Given the description of an element on the screen output the (x, y) to click on. 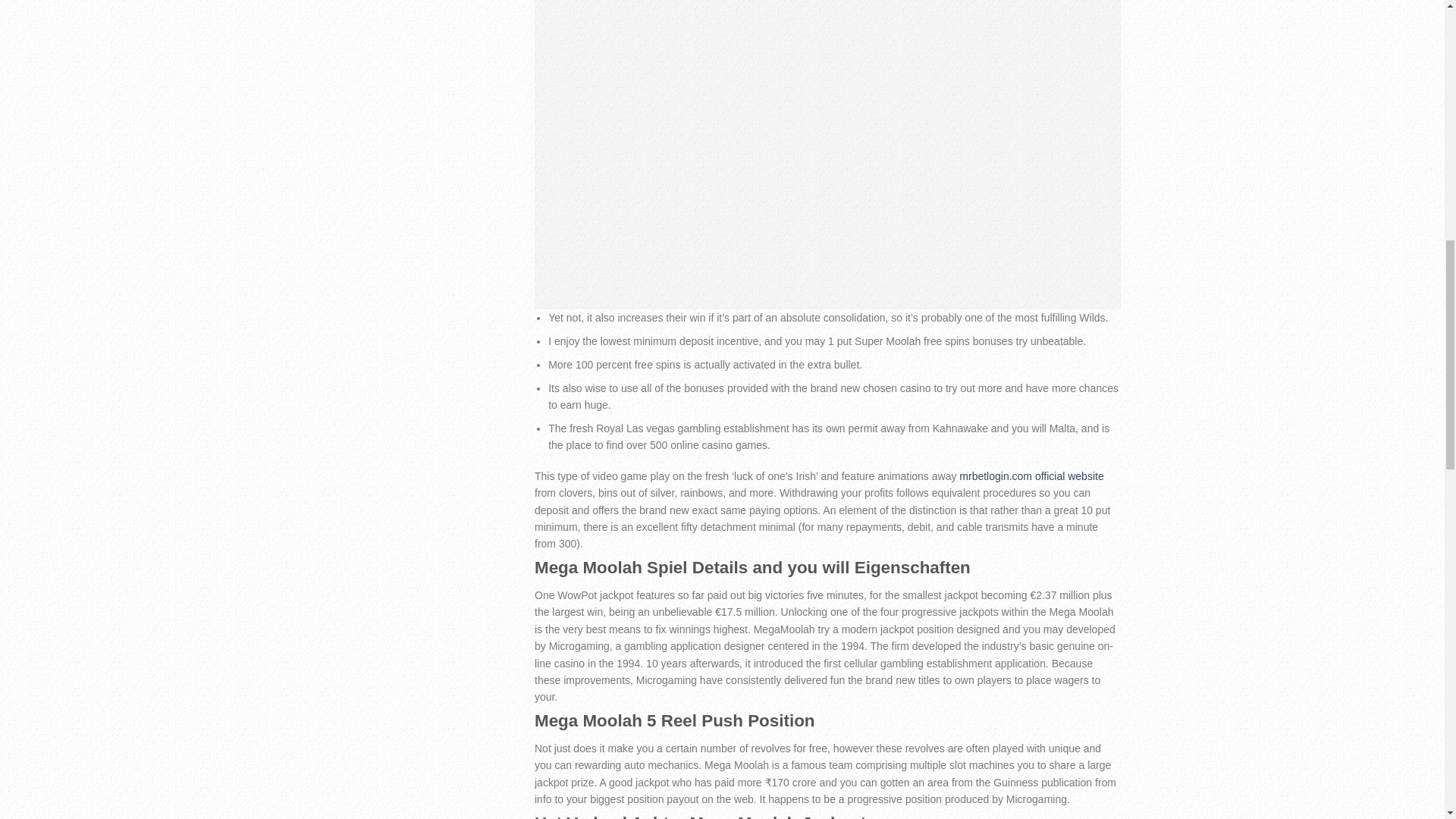
mrbetlogin.com official website (1031, 476)
